Given the description of an element on the screen output the (x, y) to click on. 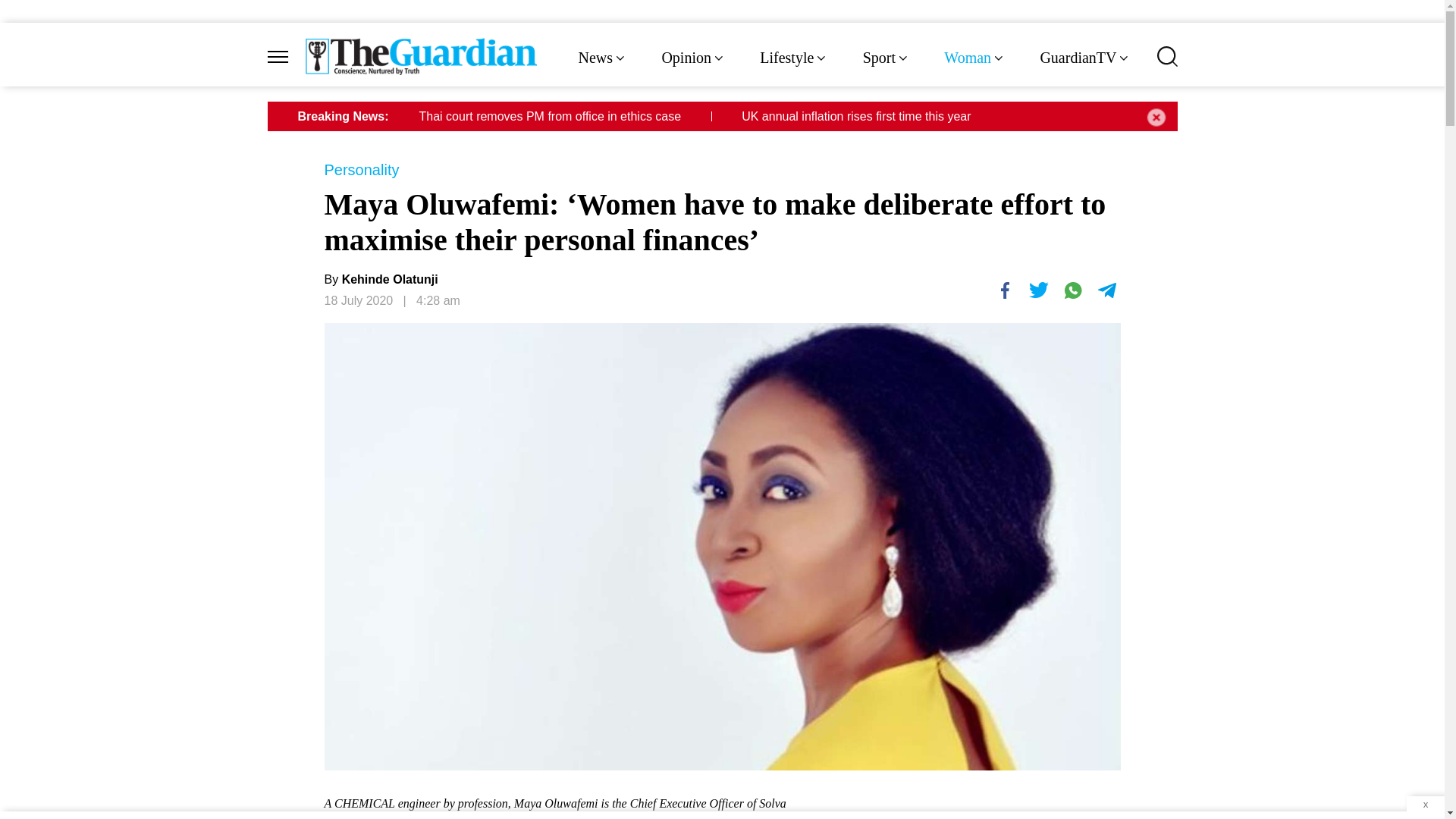
Opinion (693, 57)
GuardianTV (1085, 57)
Woman (974, 57)
News (602, 57)
Sport (887, 57)
Lifestyle (794, 57)
